Given the description of an element on the screen output the (x, y) to click on. 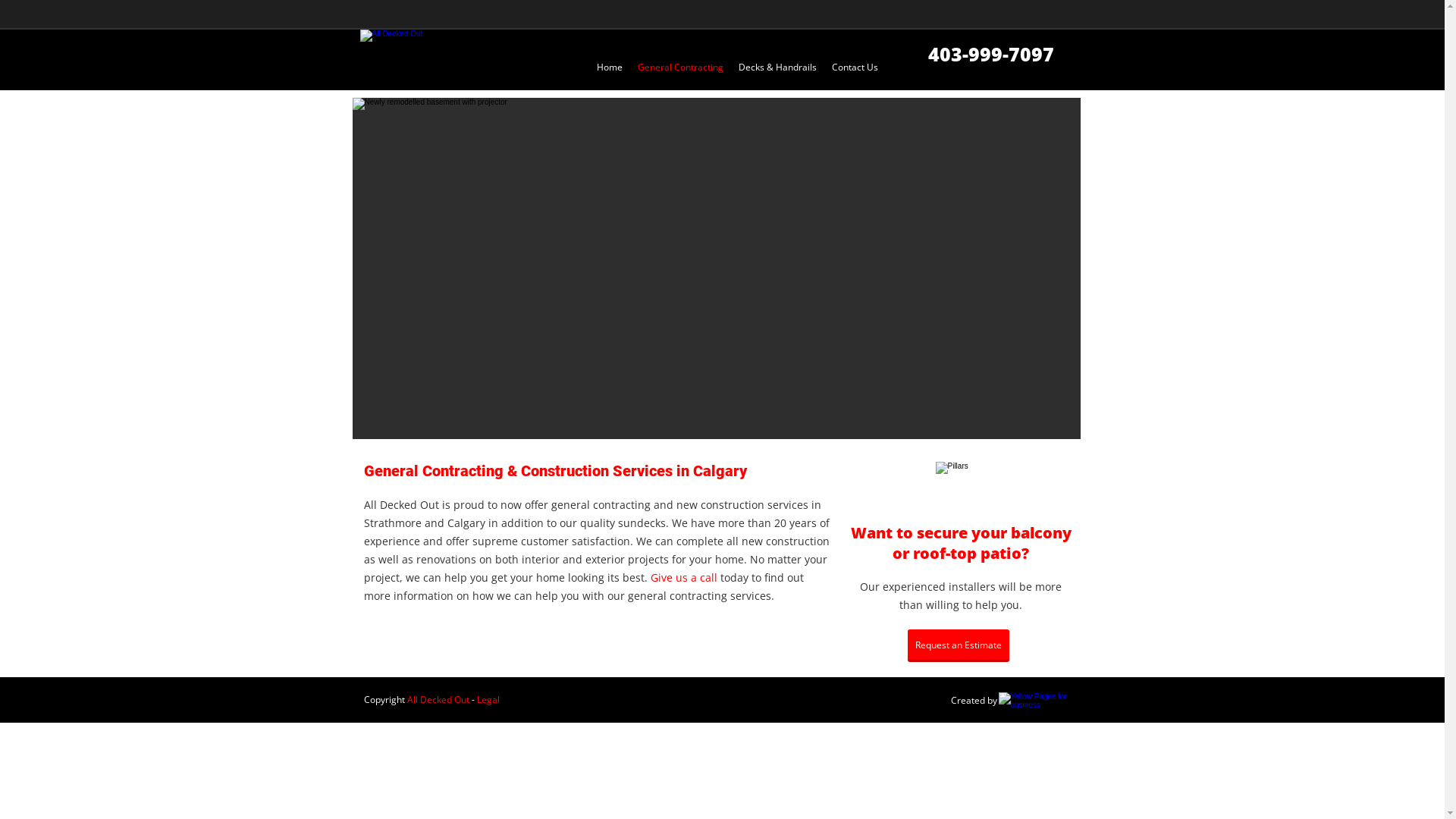
Home Element type: text (609, 67)
Decks & Handrails Element type: text (777, 67)
Contact Us Element type: text (854, 67)
Request an Estimate Element type: text (957, 645)
General Contracting Element type: text (680, 67)
All Decked Out Element type: text (437, 700)
Give us a call Element type: text (683, 578)
403-999-7097 Element type: text (991, 58)
Legal Element type: text (487, 700)
